Given the description of an element on the screen output the (x, y) to click on. 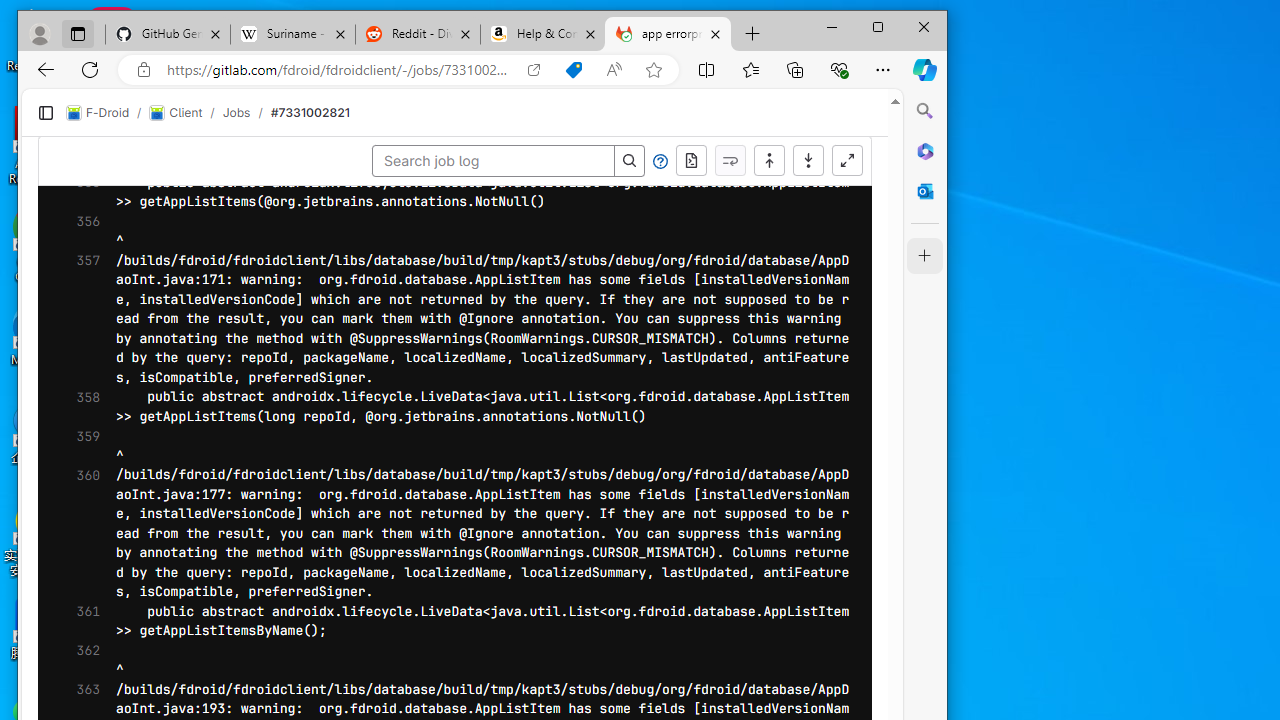
GitHub General Privacy Statement - GitHub Docs (207, 17)
395 (73, 156)
394 (73, 138)
408 (73, 411)
#7331002821 (527, 95)
Jobs/ (464, 95)
415 (73, 547)
